Given the description of an element on the screen output the (x, y) to click on. 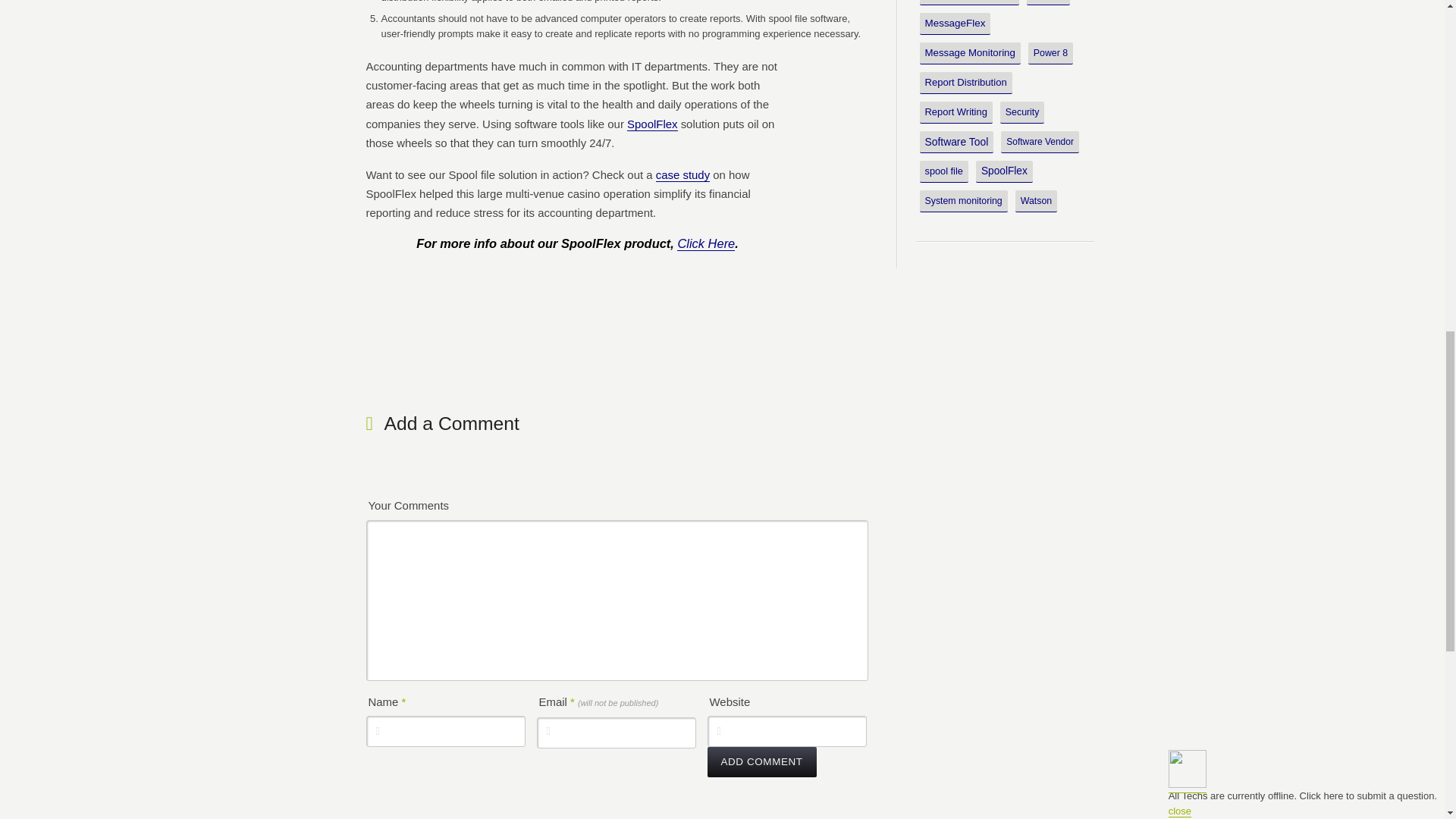
SpoolFlex (652, 124)
Add Comment (760, 761)
case study (683, 174)
SpoolFlex (706, 243)
